Given the description of an element on the screen output the (x, y) to click on. 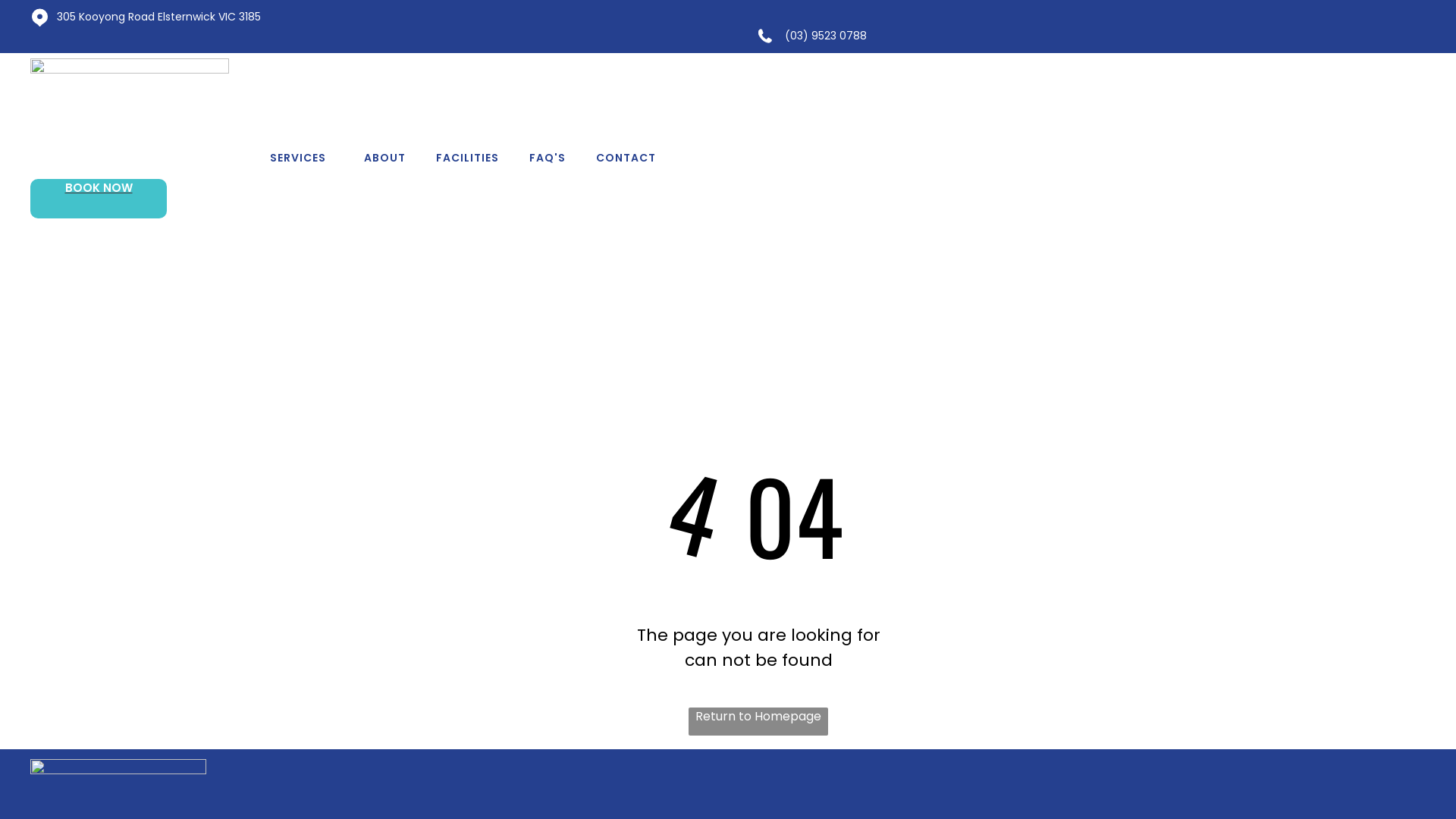
Return to Homepage Element type: text (758, 721)
(03) 9523 0788 Element type: text (825, 35)
FAQ'S Element type: text (547, 157)
FACILITIES Element type: text (467, 157)
CONTACT Element type: text (625, 157)
305 Kooyong Road Elsternwick VIC 3185 Element type: text (158, 16)
ABOUT Element type: text (384, 157)
BOOK NOW Element type: text (98, 198)
SERVICES Element type: text (301, 157)
